Given the description of an element on the screen output the (x, y) to click on. 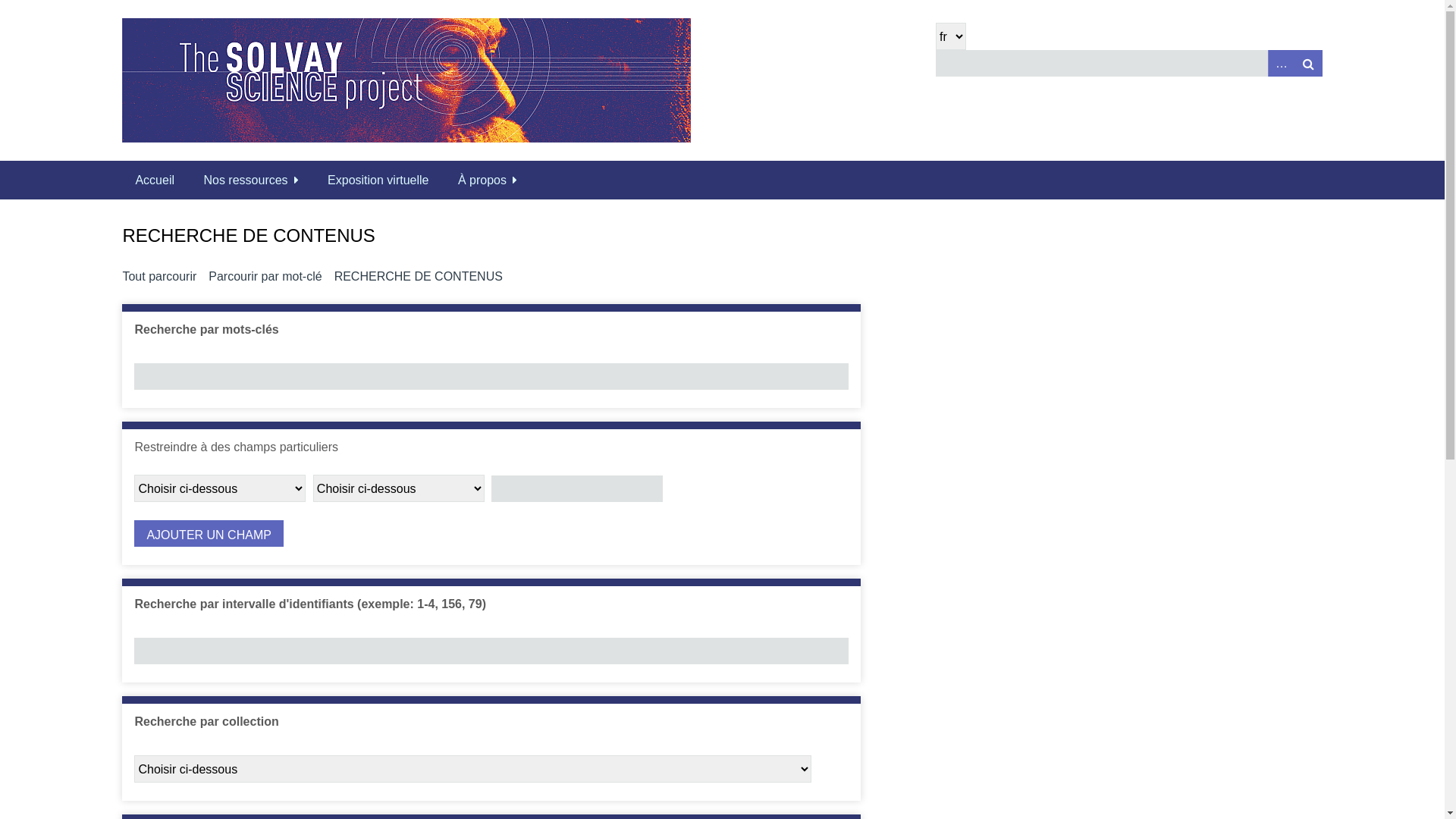
Nos ressources Element type: text (250, 179)
Recherche Element type: hover (1128, 63)
RECHERCHE DE CONTENUS Element type: text (418, 276)
AJOUTER UN CHAMP Element type: text (208, 533)
ADVANCED SEARCH Element type: text (1281, 63)
Accueil Element type: text (154, 180)
Tout parcourir Element type: text (159, 276)
Exposition virtuelle Element type: text (377, 180)
RECHERCHE Element type: text (1308, 63)
